Given the description of an element on the screen output the (x, y) to click on. 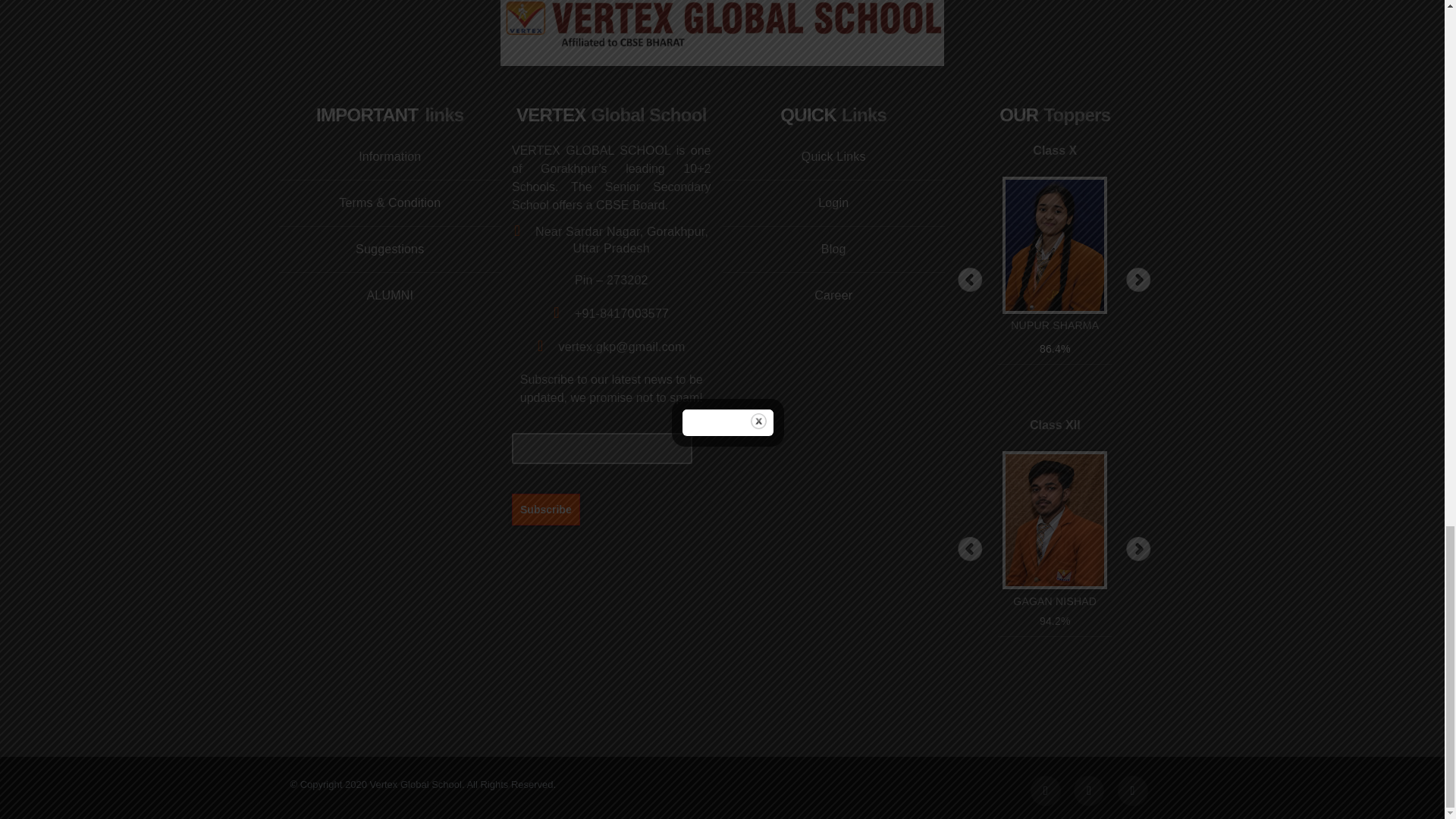
Subscribe (545, 508)
